Given the description of an element on the screen output the (x, y) to click on. 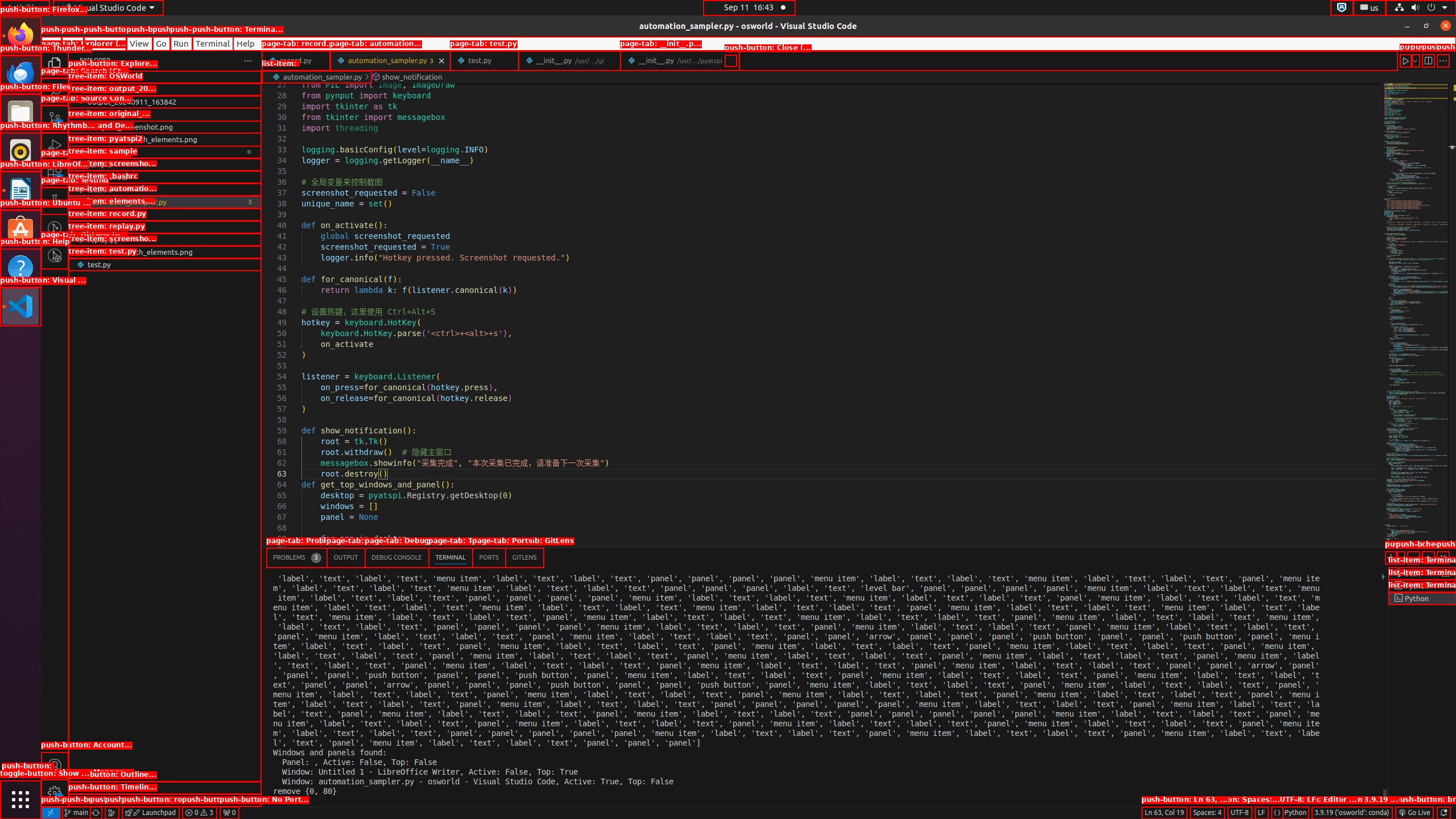
Timeline Section Element type: push-button (164, 799)
Manage - New Code update available. Element type: push-button (54, 792)
test.py Element type: page-tab (483, 60)
New Terminal (Ctrl+Shift+`) [Alt] Split Terminal (Ctrl+Shift+5) Element type: push-button (1390, 557)
Source Control (Ctrl+Shift+G G) - 1 pending changes Element type: page-tab (54, 118)
